Given the description of an element on the screen output the (x, y) to click on. 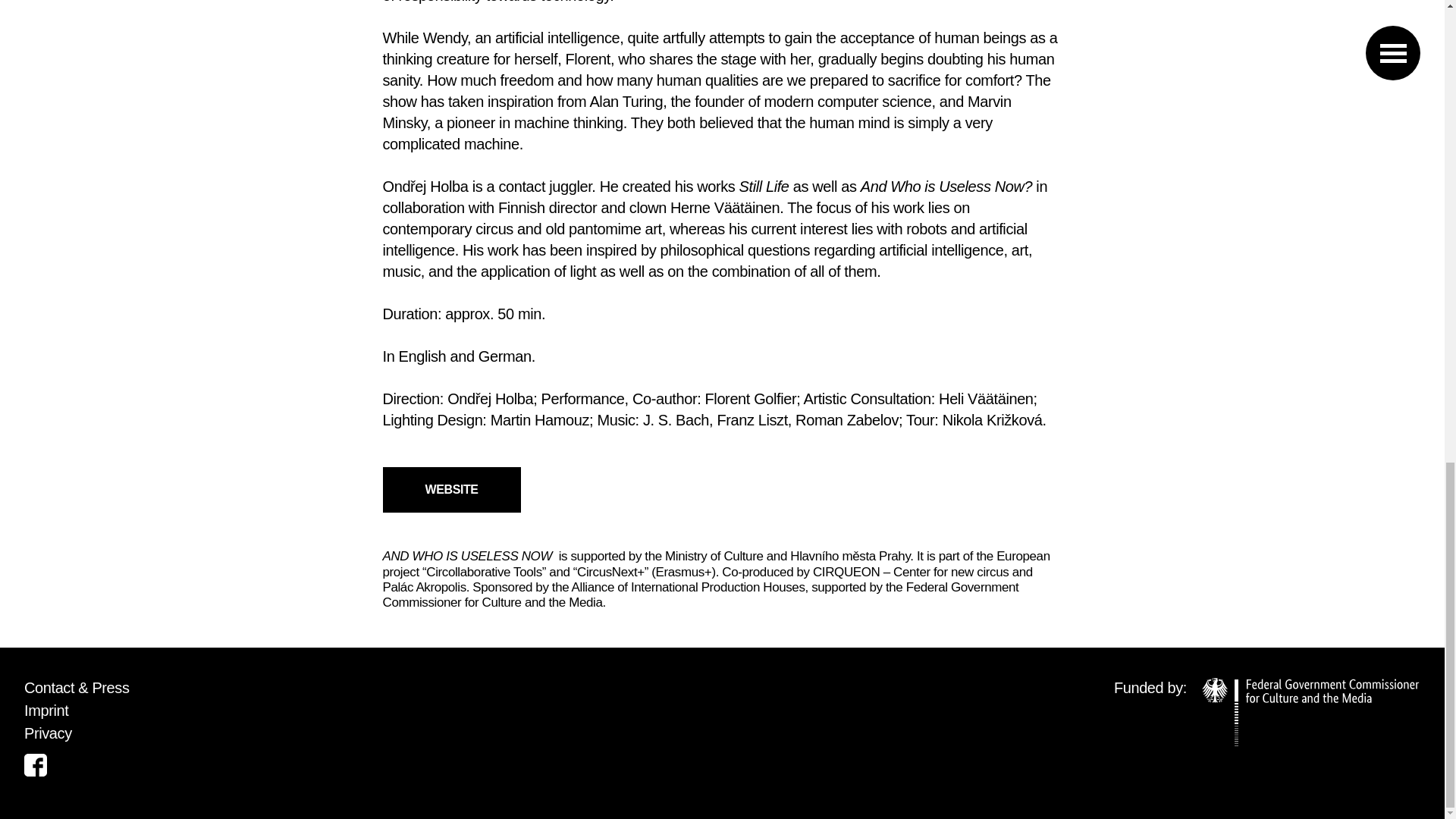
Privacy (47, 733)
WEBSITE (450, 489)
Imprint (46, 710)
Facebook (35, 764)
